Given the description of an element on the screen output the (x, y) to click on. 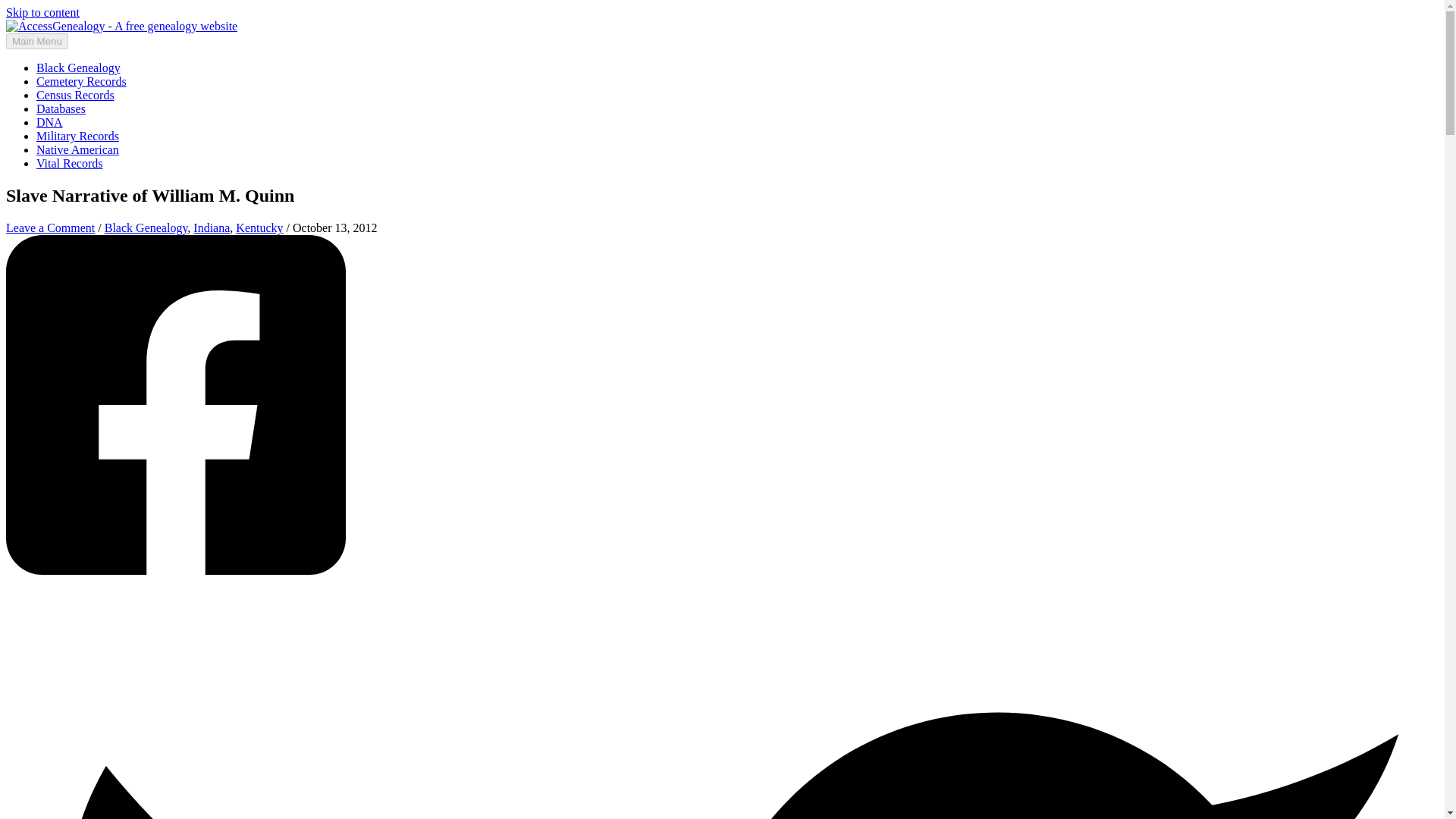
DNA (49, 122)
Native American (77, 149)
United States Vital Records (68, 163)
Kentucky (258, 227)
Indiana (211, 227)
Cemetery Records (81, 81)
United States Cemetery Records (81, 81)
Black Genealogy (78, 67)
Vital Records (68, 163)
Military Records (77, 135)
Genealogy Databases (60, 108)
Black Genealogy (145, 227)
DNA (49, 122)
Leave a Comment (49, 227)
Main Menu (36, 41)
